Given the description of an element on the screen output the (x, y) to click on. 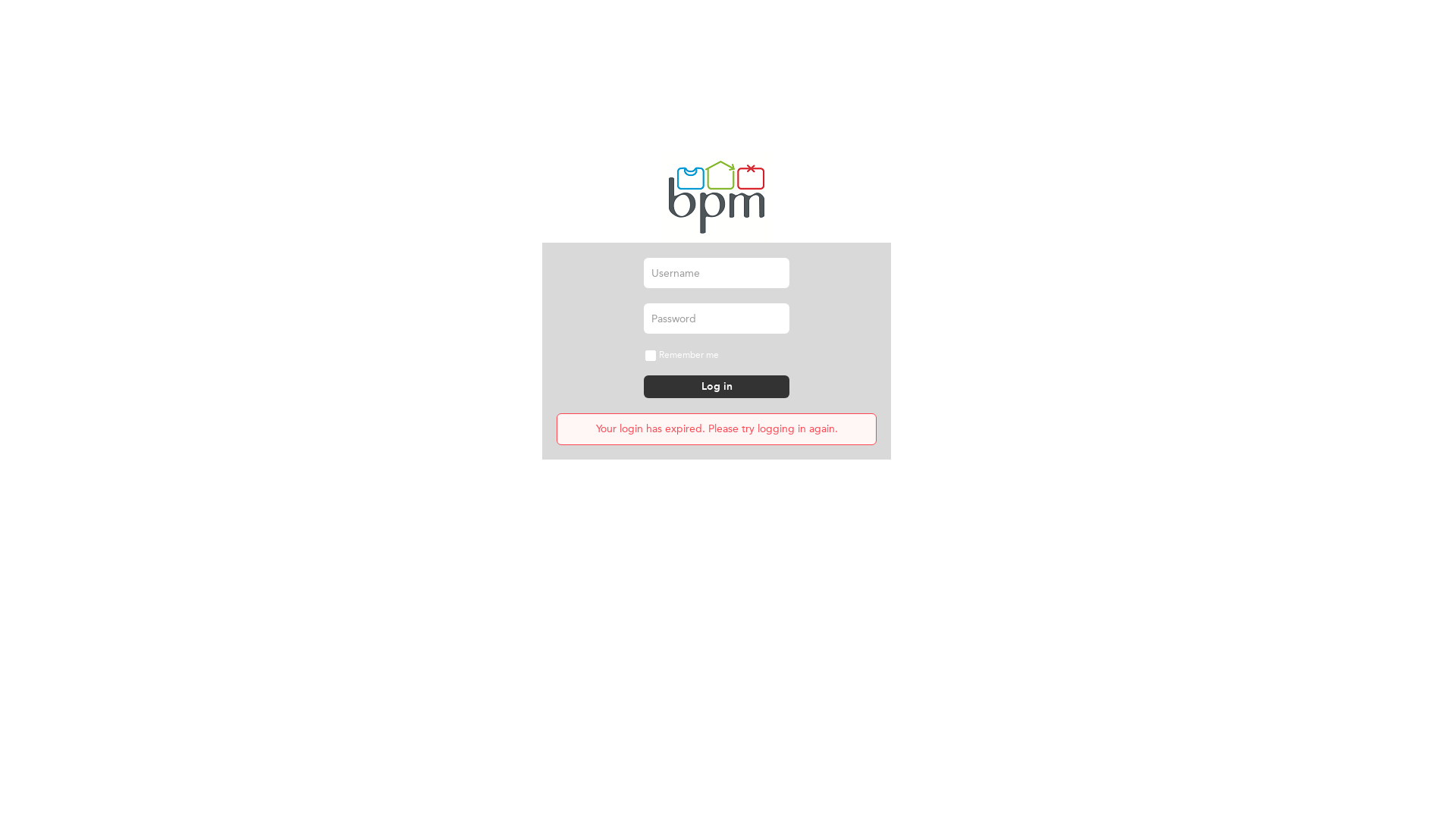
Log in Element type: text (716, 386)
